Given the description of an element on the screen output the (x, y) to click on. 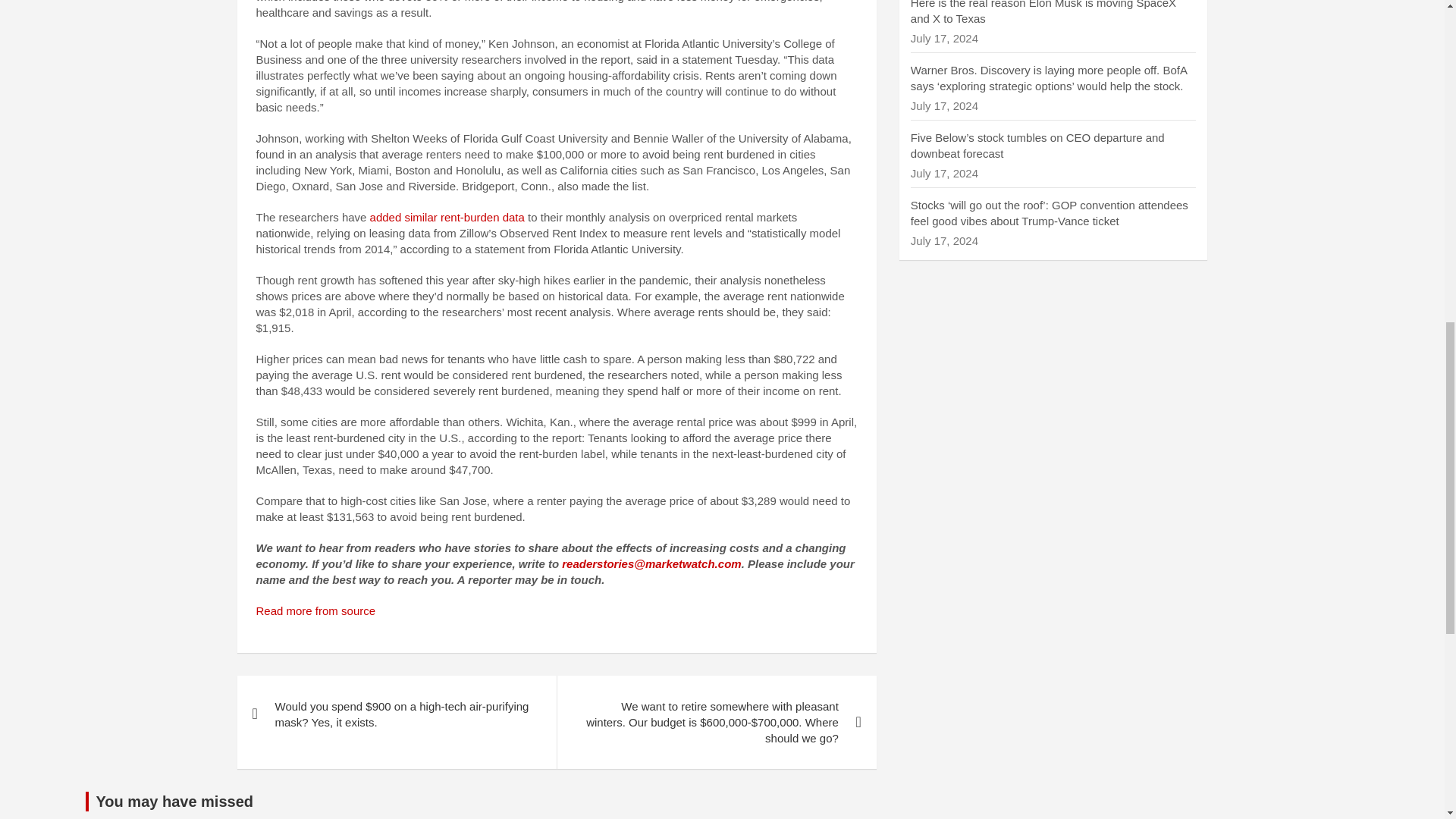
added similar rent-burden data (446, 216)
You may have missed (174, 801)
Read more from source (315, 610)
